Given the description of an element on the screen output the (x, y) to click on. 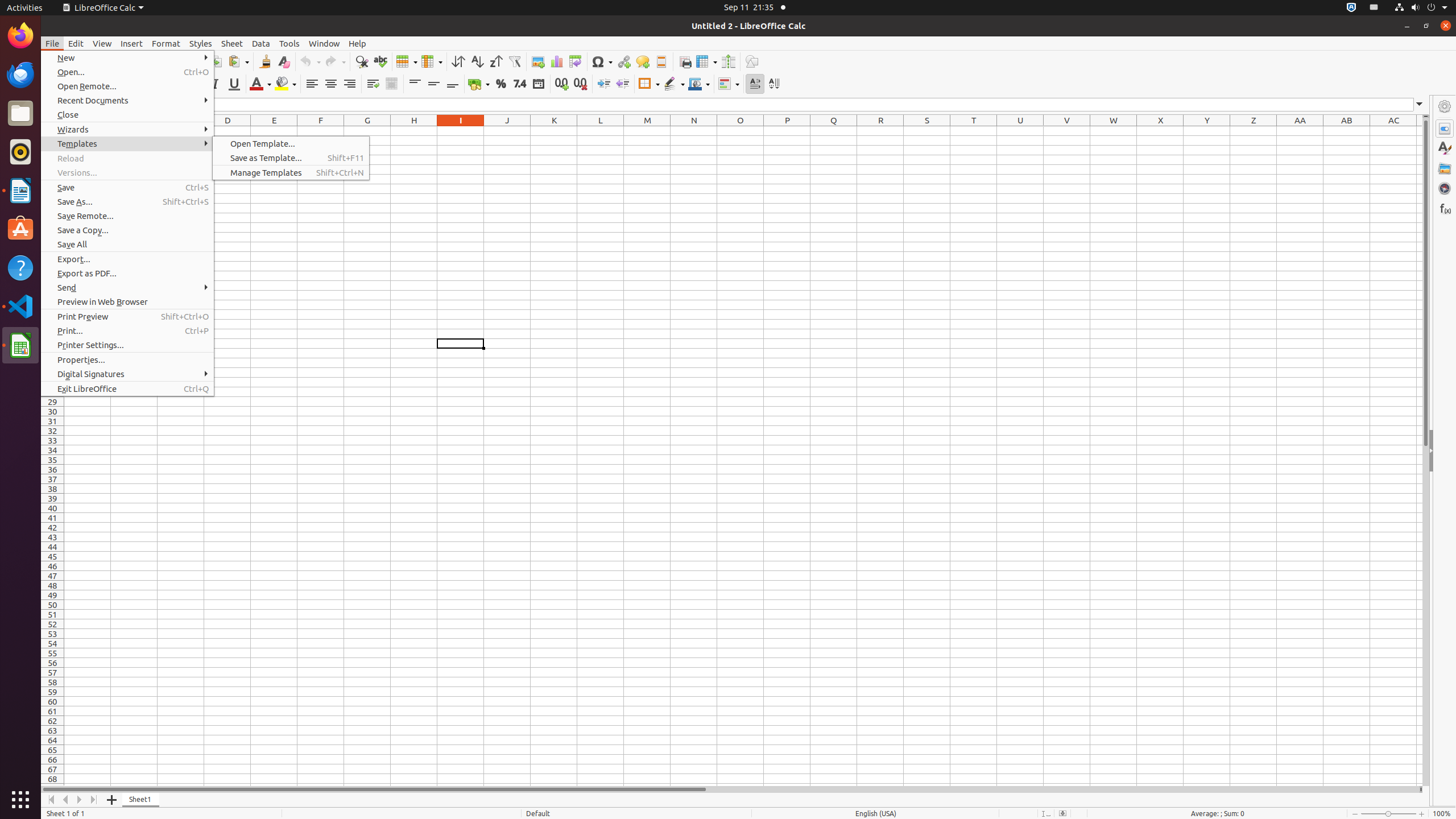
Horizontal scroll bar Element type: scroll-bar (729, 789)
Borders (Shift to overwrite) Element type: push-button (648, 83)
Align Right Element type: push-button (349, 83)
W1 Element type: table-cell (1113, 130)
